Given the description of an element on the screen output the (x, y) to click on. 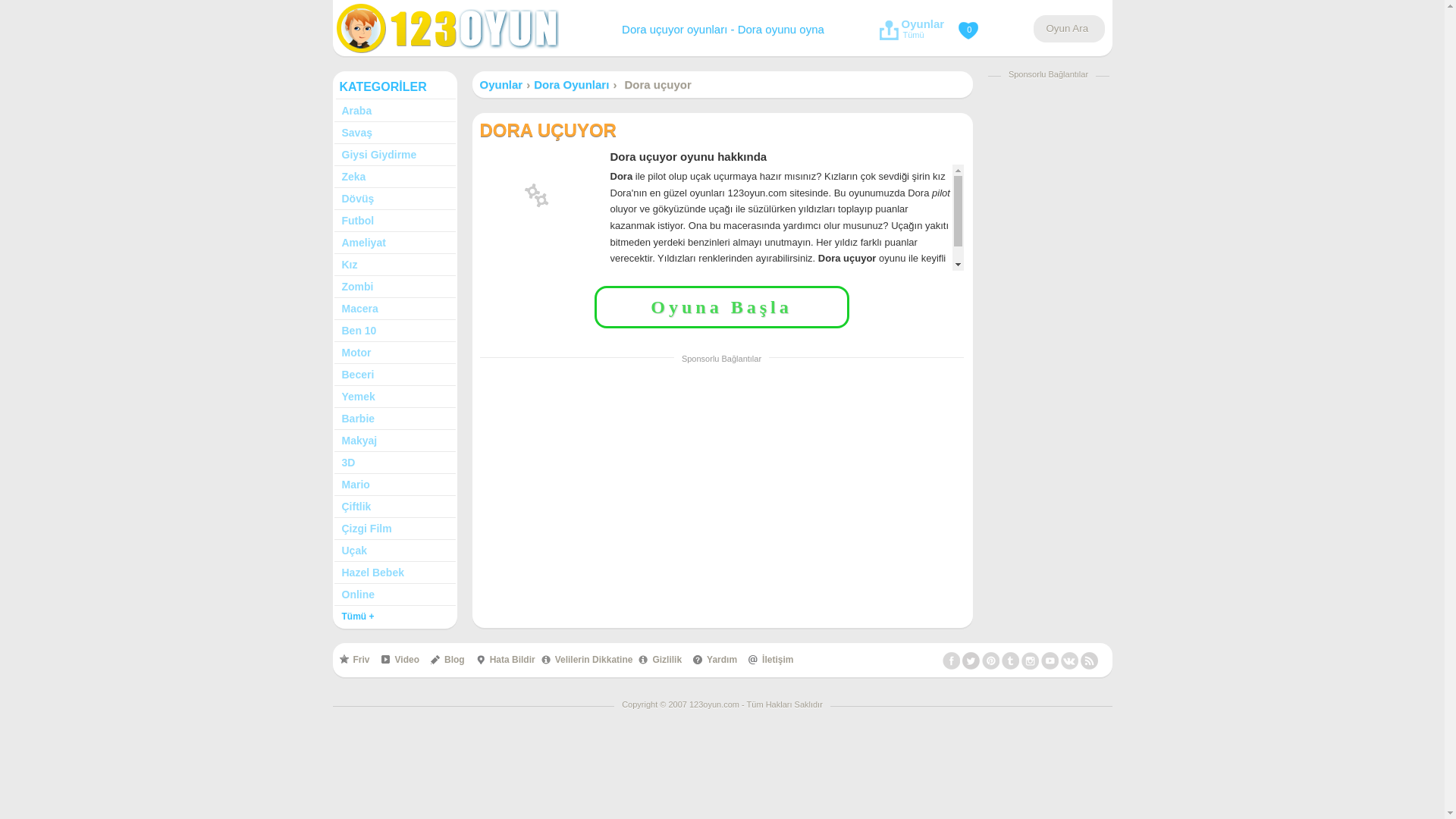
Motor Element type: text (394, 353)
Advertisement Element type: hover (721, 481)
123 Oyun Vk Element type: hover (1068, 660)
Mario Element type: text (394, 484)
Makyaj Element type: text (394, 440)
Barbie Element type: text (394, 418)
3D Element type: text (394, 462)
123 Oyun Instagram Element type: hover (1029, 660)
Velilerin Dikkatine Element type: text (586, 659)
Ben 10 Element type: text (394, 331)
Online Element type: text (394, 594)
Video Element type: text (399, 659)
Araba Element type: text (394, 111)
123 Oyun Rss Element type: hover (1088, 660)
Futbol Element type: text (394, 221)
123 Oyun Tumblr Element type: hover (1009, 660)
Zeka Element type: text (394, 177)
123 Oyun Facebook Element type: hover (950, 660)
Macera Element type: text (394, 309)
0 Element type: text (971, 26)
Hata Bildir Element type: text (504, 659)
Hazel Bebek Element type: text (394, 572)
123 Oyun Pinterest Element type: hover (989, 660)
123 Oyun YouTube Element type: hover (1048, 660)
Advertisement Element type: hover (1047, 314)
Oyunlar Element type: text (500, 84)
Ameliyat Element type: text (394, 243)
Friv Element type: text (354, 659)
Blog Element type: text (446, 659)
Zombi Element type: text (394, 287)
Beceri Element type: text (394, 374)
123 Oyun Twitter Element type: hover (970, 660)
Gizlilik Element type: text (659, 659)
Giysi Giydirme Element type: text (394, 155)
Yemek Element type: text (394, 396)
